Given the description of an element on the screen output the (x, y) to click on. 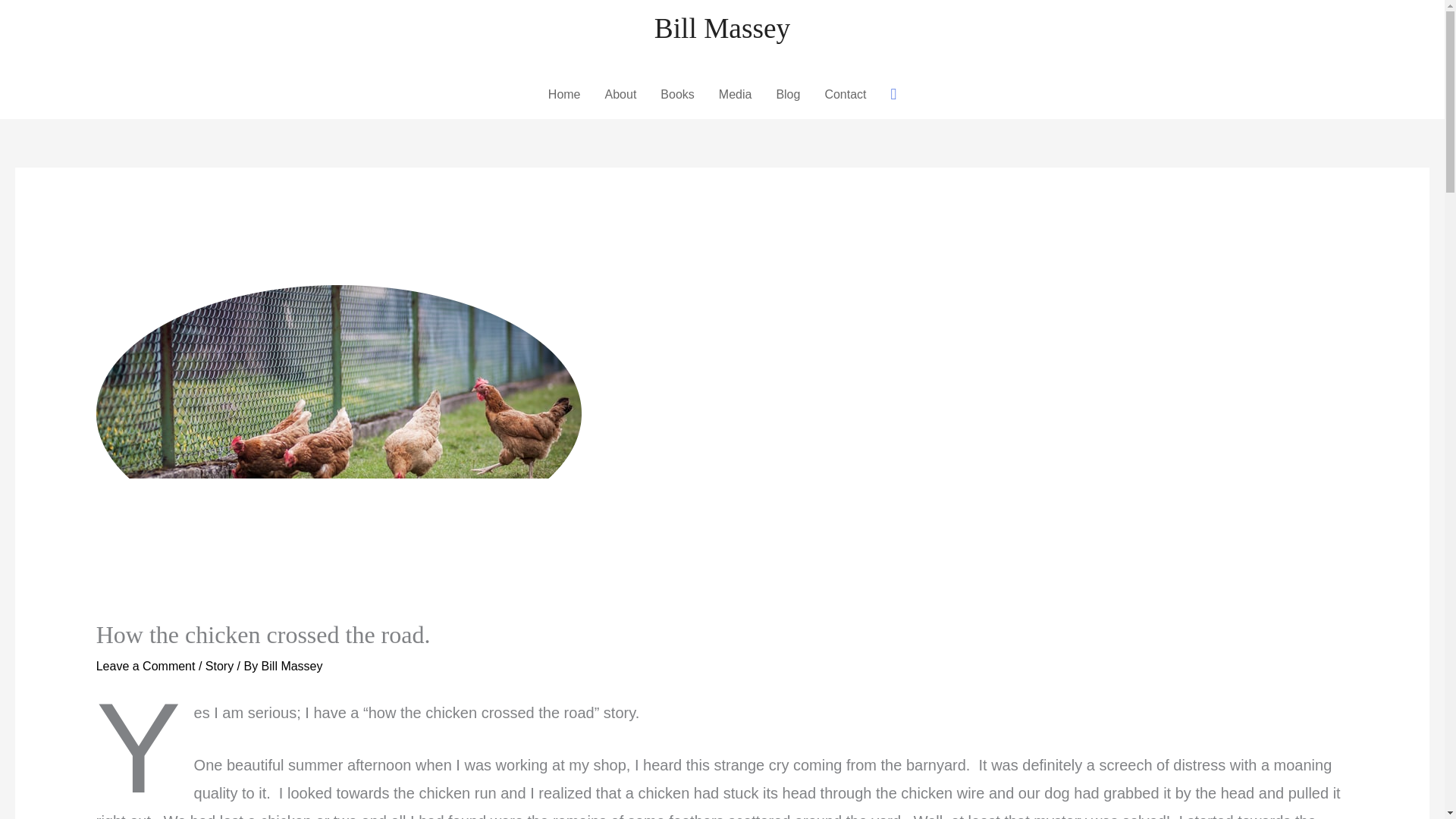
Media (735, 94)
About (620, 94)
Books (676, 94)
Blog (787, 94)
View all posts by Bill Massey (292, 666)
Story (218, 666)
Leave a Comment (145, 666)
Home (563, 94)
Bill Massey (721, 28)
Contact (844, 94)
